Given the description of an element on the screen output the (x, y) to click on. 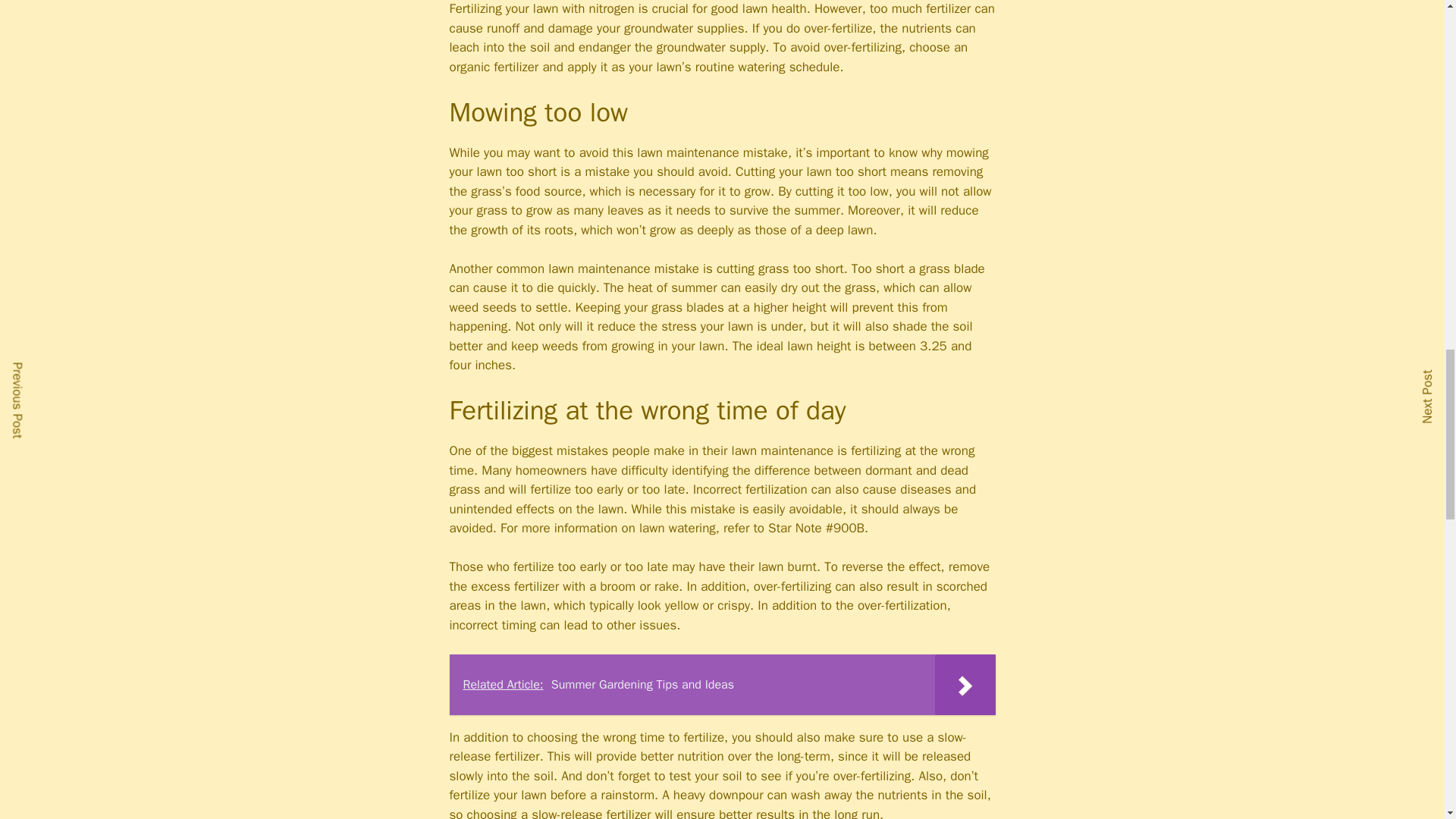
Related Article:  Summer Gardening Tips and Ideas (721, 684)
